Given the description of an element on the screen output the (x, y) to click on. 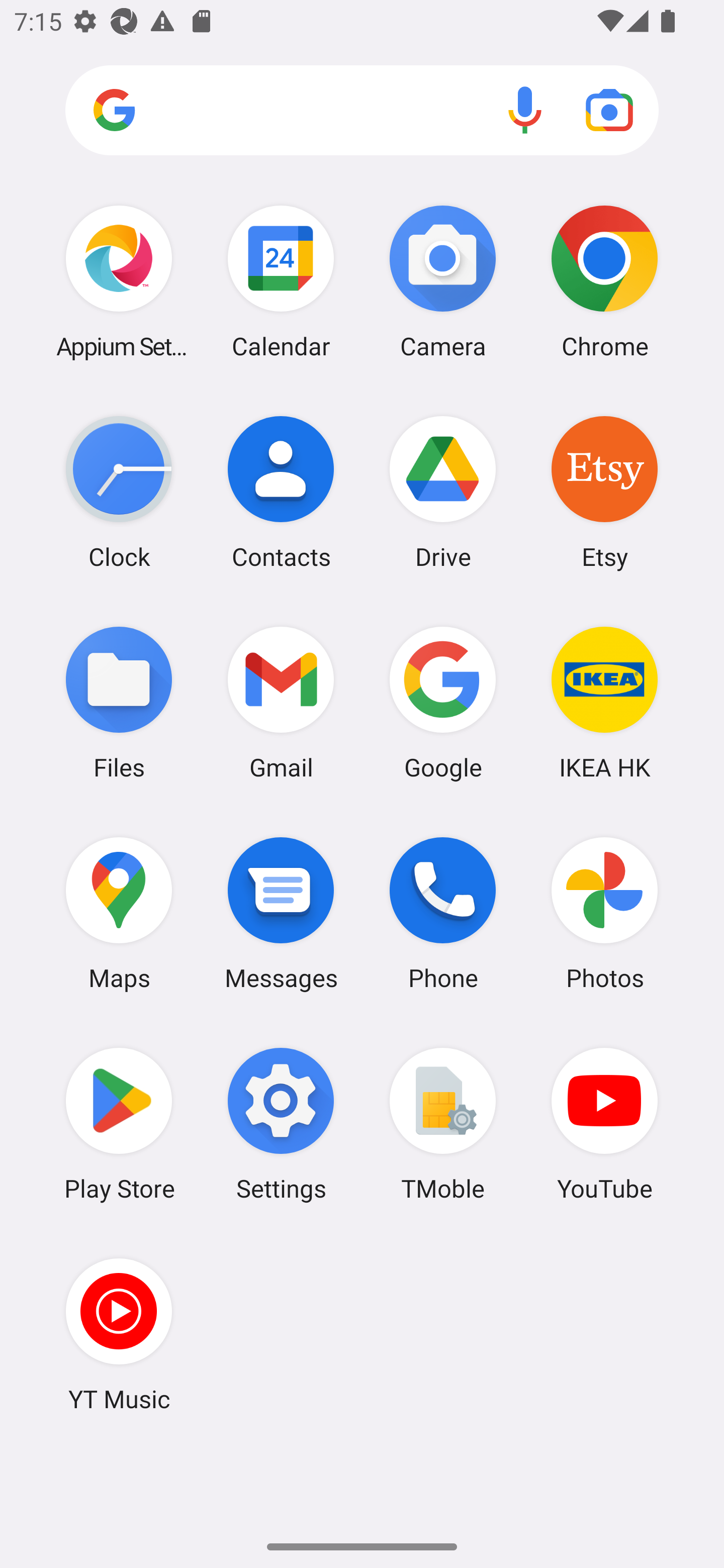
Search apps, web and more (361, 110)
Voice search (524, 109)
Google Lens (608, 109)
Appium Settings (118, 281)
Calendar (280, 281)
Camera (443, 281)
Chrome (604, 281)
Clock (118, 492)
Contacts (280, 492)
Drive (443, 492)
Etsy (604, 492)
Files (118, 702)
Gmail (280, 702)
Google (443, 702)
IKEA HK (604, 702)
Maps (118, 913)
Messages (280, 913)
Phone (443, 913)
Photos (604, 913)
Play Store (118, 1124)
Settings (280, 1124)
TMoble (443, 1124)
YouTube (604, 1124)
YT Music (118, 1334)
